Given the description of an element on the screen output the (x, y) to click on. 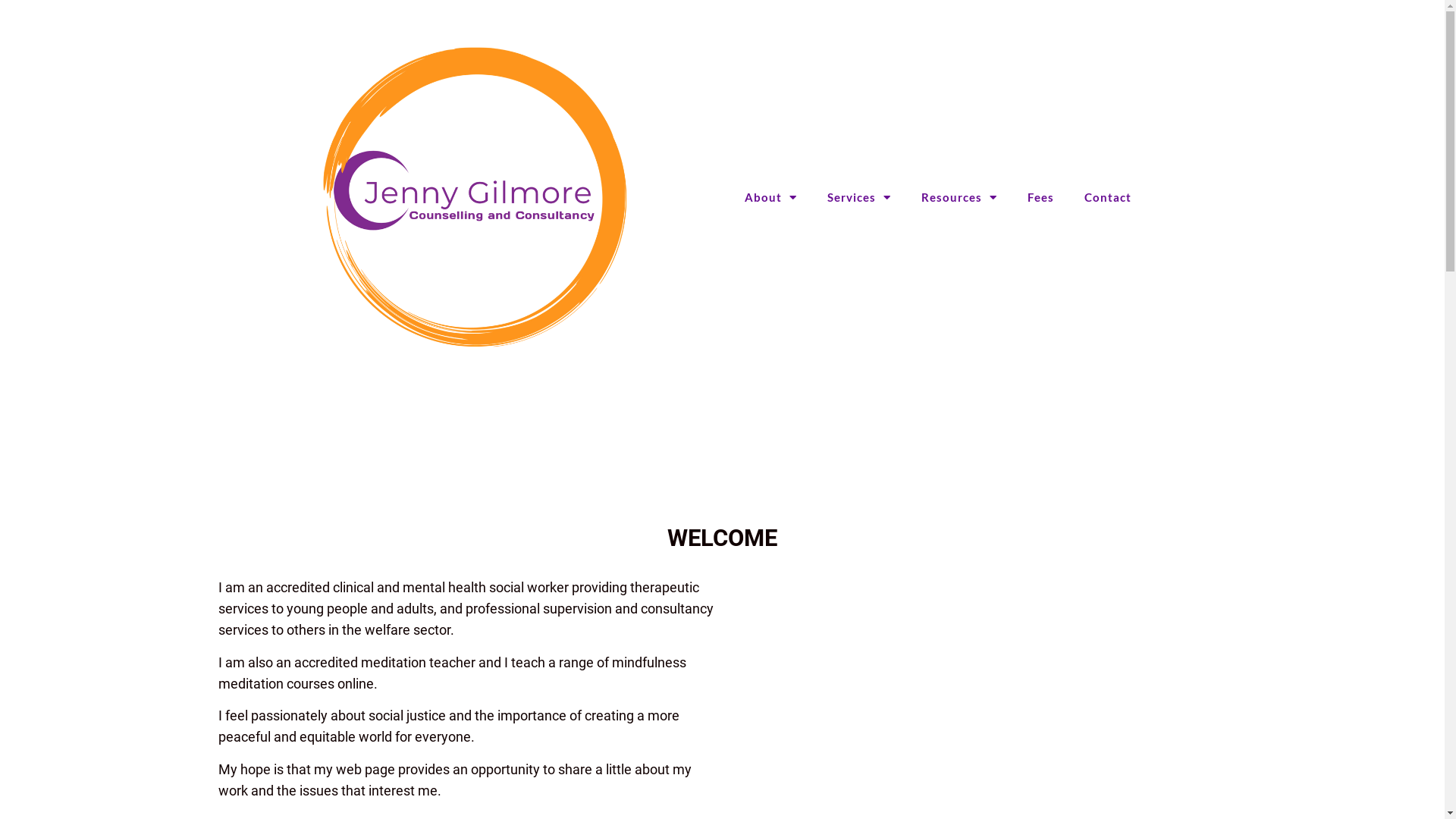
Contact Element type: text (1107, 196)
Services Element type: text (859, 196)
About Element type: text (770, 196)
Fees Element type: text (1040, 196)
Resources Element type: text (959, 196)
